Given the description of an element on the screen output the (x, y) to click on. 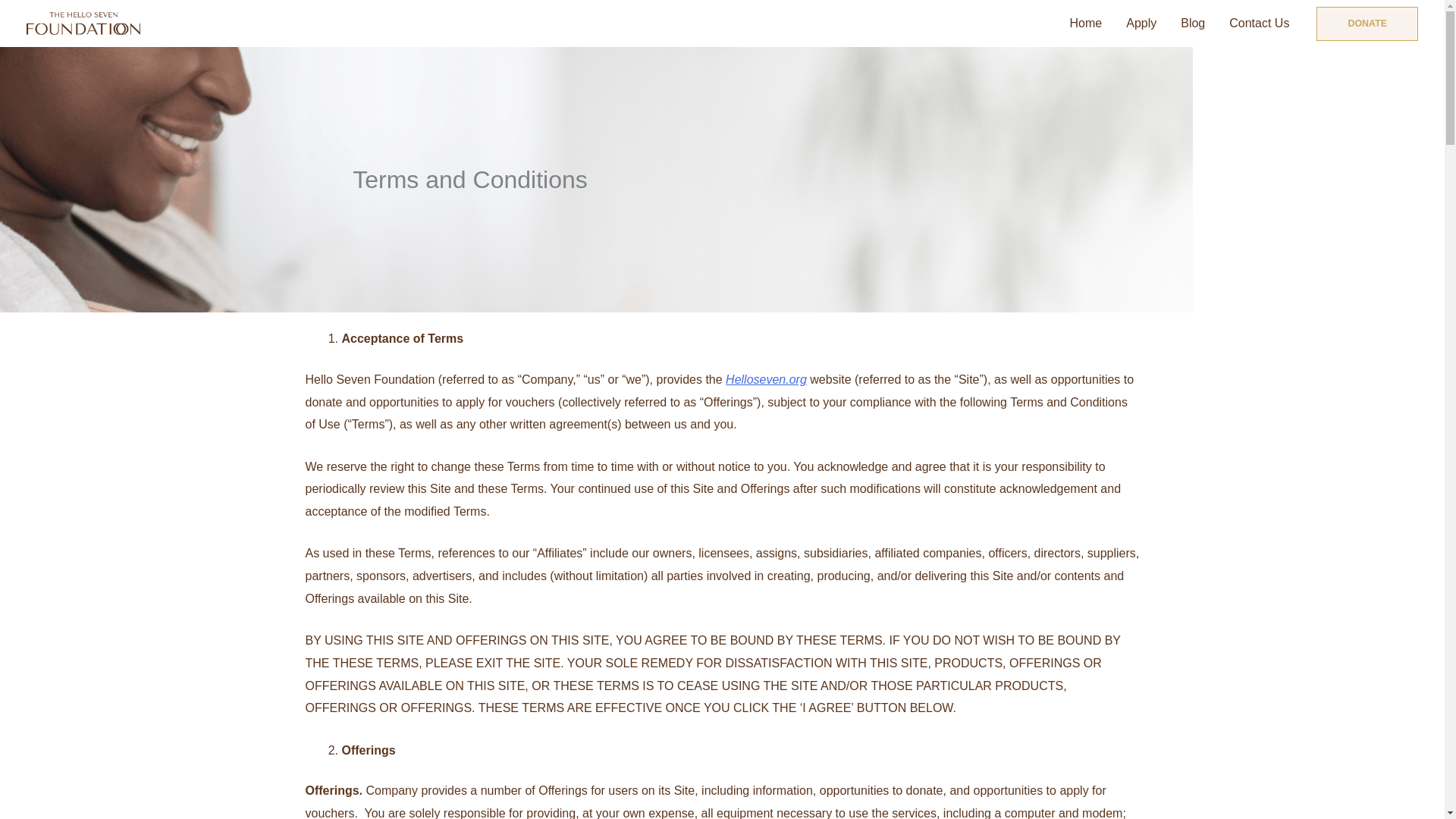
Home (1086, 23)
Blog (1193, 23)
Helloseven.org (765, 379)
DONATE (1367, 23)
Contact Us (1259, 23)
Apply (1141, 23)
